Given the description of an element on the screen output the (x, y) to click on. 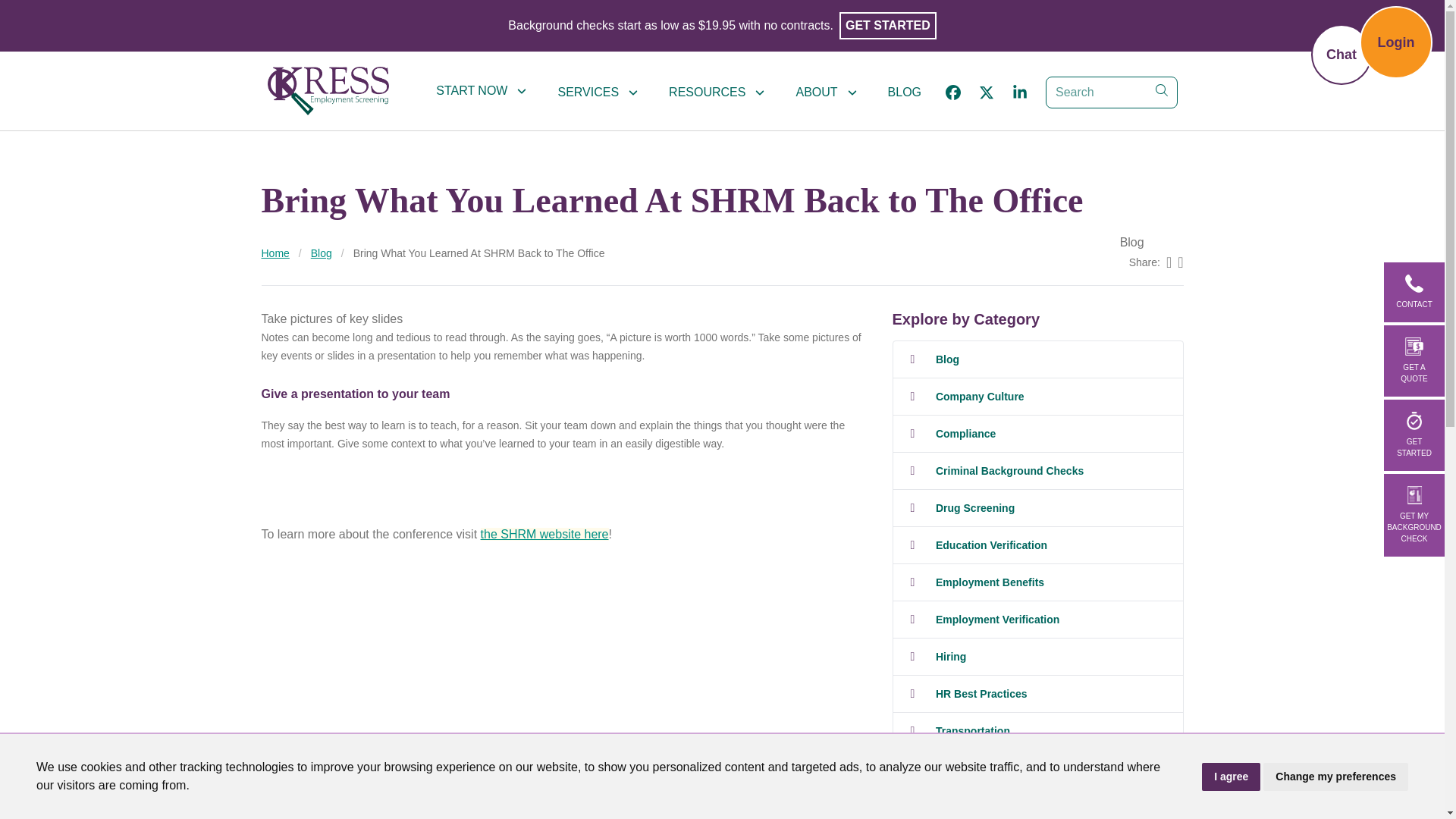
GET STARTED (888, 25)
Chat (1341, 54)
START NOW (480, 91)
SERVICES (598, 91)
I agree (1231, 776)
Login (1395, 41)
Change my preferences (1335, 776)
